Given the description of an element on the screen output the (x, y) to click on. 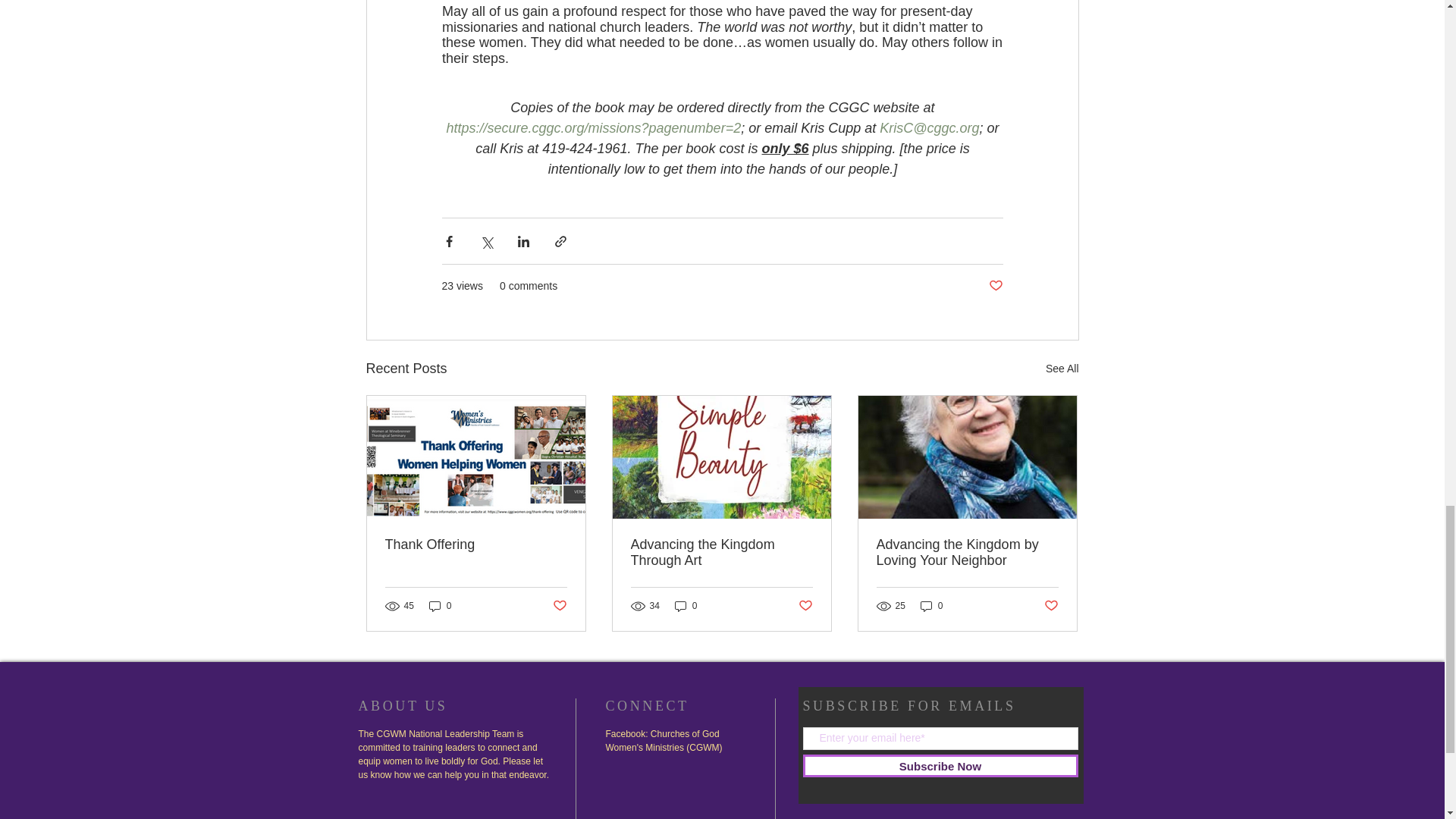
Thank Offering (476, 544)
Subscribe Now (939, 765)
0 (931, 605)
0 (685, 605)
Post not marked as liked (1050, 606)
Post not marked as liked (558, 606)
See All (1061, 368)
0 (440, 605)
Advancing the Kingdom by Loving Your Neighbor (967, 552)
Post not marked as liked (995, 286)
